Given the description of an element on the screen output the (x, y) to click on. 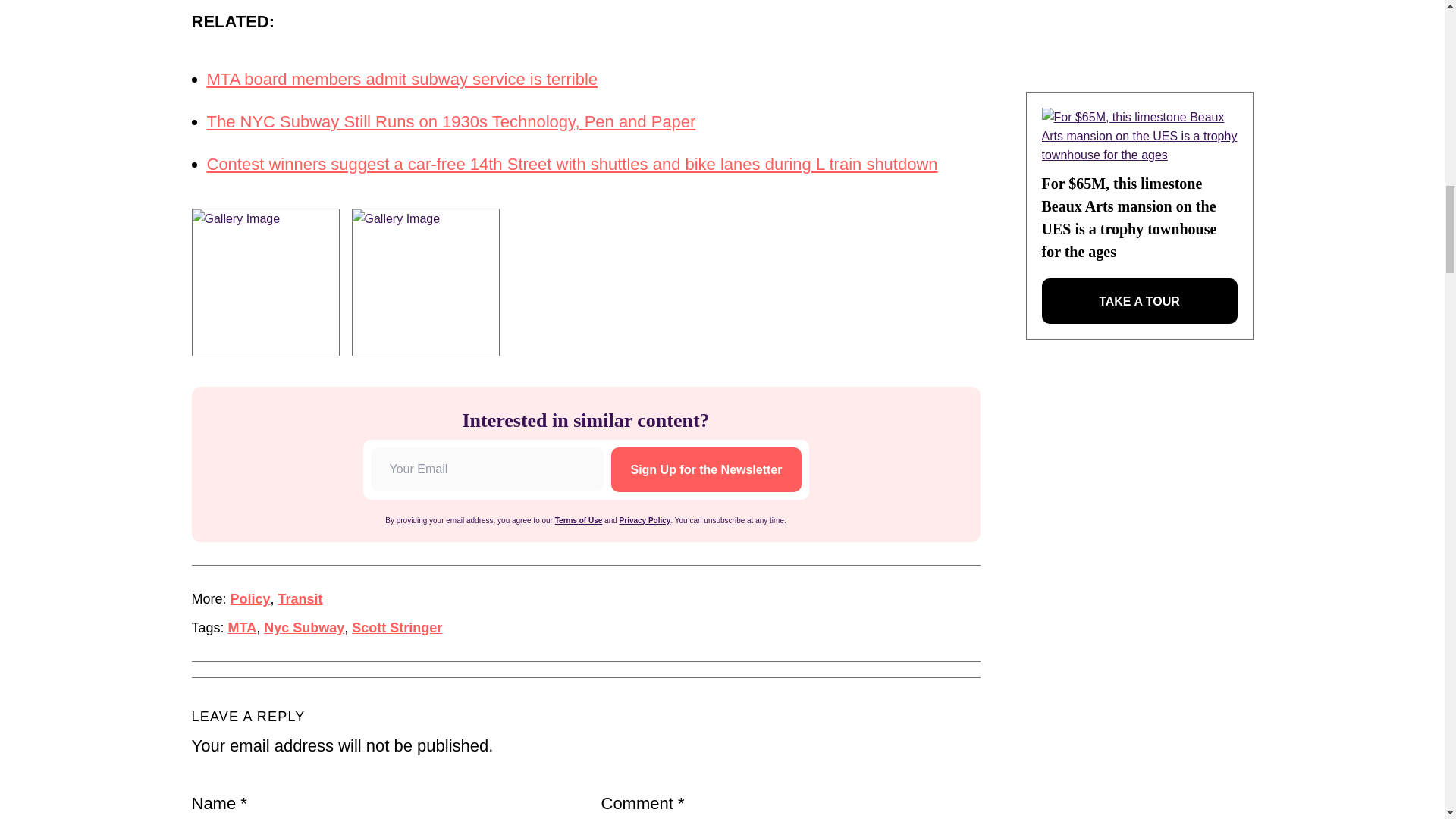
Scott Stringer (397, 627)
MTA board members admit subway service is terrible (401, 78)
Transit (300, 598)
MTA (242, 627)
Sign Up for the Newsletter (705, 469)
Privacy Policy (645, 520)
Nyc Subway (303, 627)
Terms of Use (578, 520)
The NYC Subway Still Runs on 1930s Technology, Pen and Paper (450, 121)
Sign Up for the Newsletter (705, 469)
Policy (250, 598)
